Given the description of an element on the screen output the (x, y) to click on. 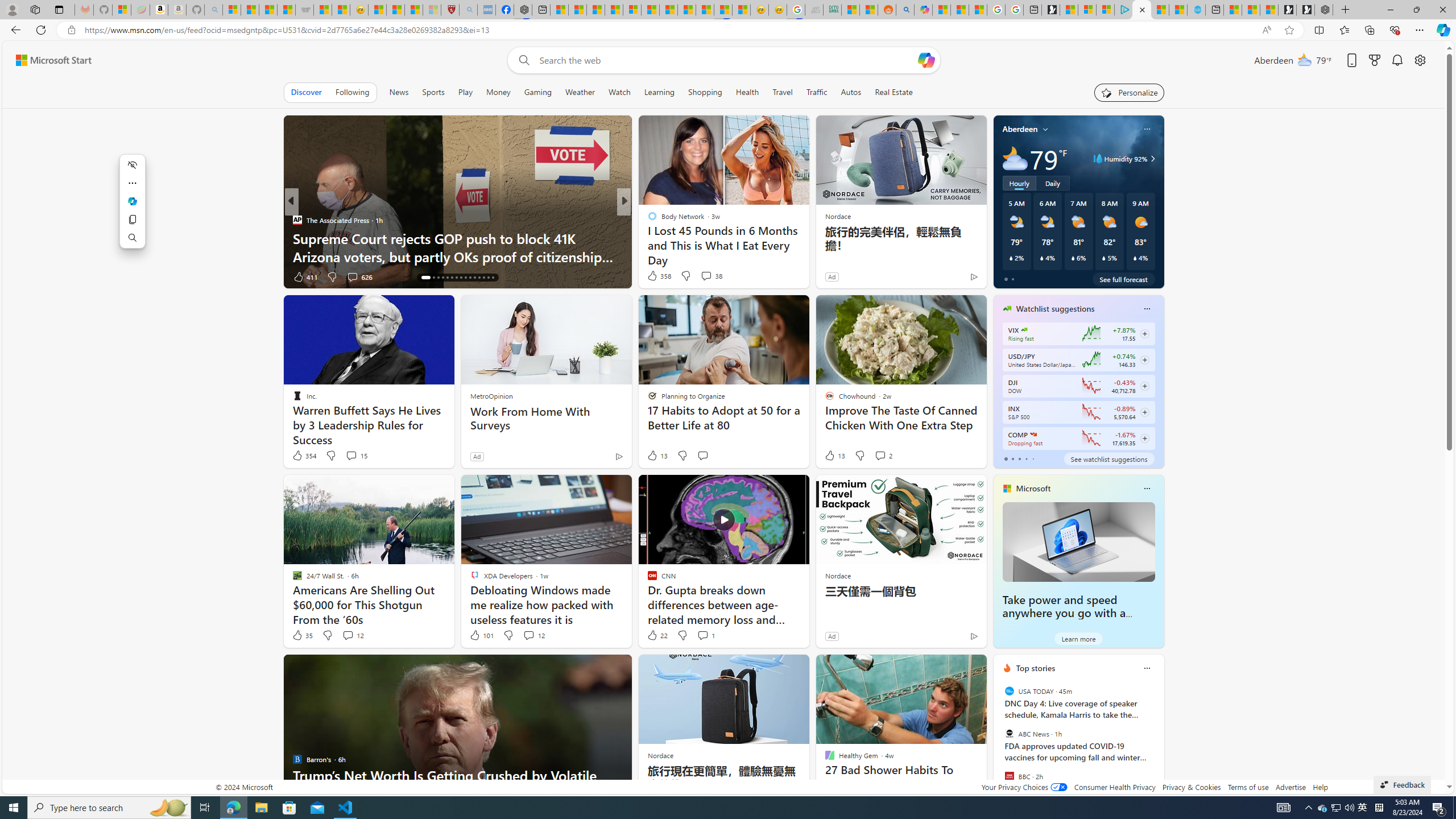
View comments 5 Comment (702, 276)
View comments 15 Comment (350, 455)
AutomationID: tab-26 (474, 277)
View comments 23 Comment (703, 276)
AutomationID: tab-19 (442, 277)
The Best Single Stock to Own for 5 Years (807, 256)
tab-1 (1012, 458)
See full forecast (1123, 278)
35 Like (301, 634)
Mostly cloudy (1014, 158)
